Given the description of an element on the screen output the (x, y) to click on. 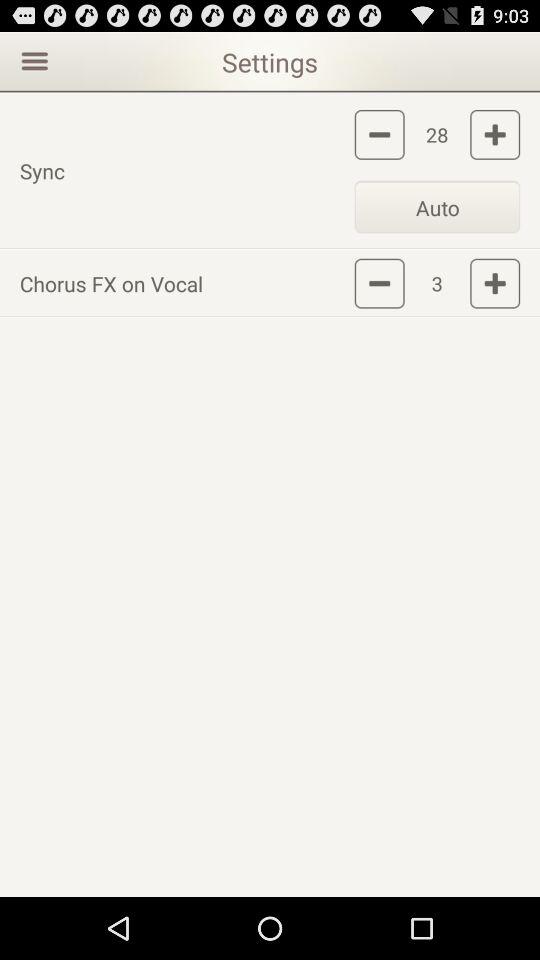
turn off app to the right of the sync icon (437, 206)
